Given the description of an element on the screen output the (x, y) to click on. 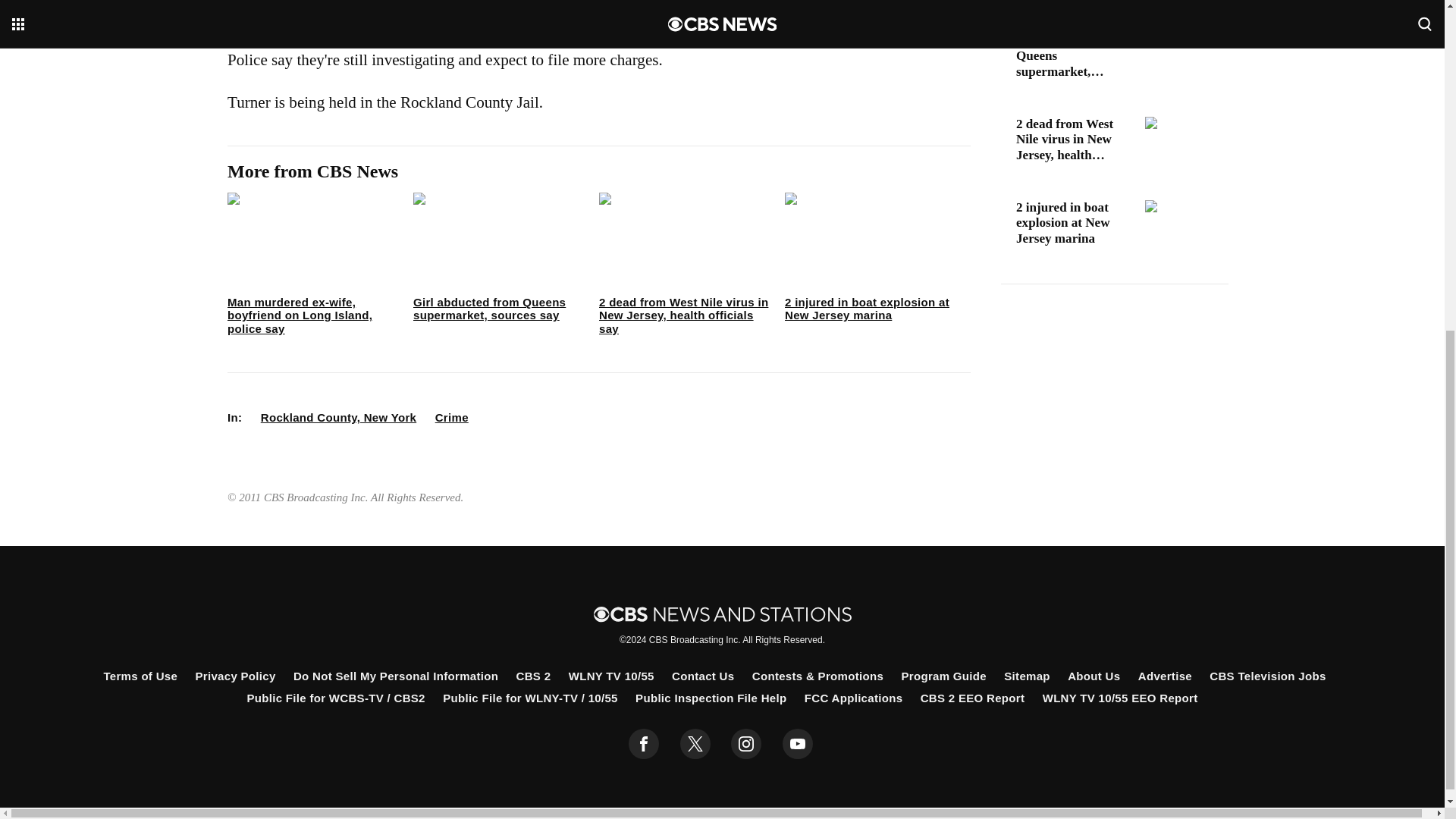
twitter (694, 743)
facebook (643, 743)
youtube (797, 743)
instagram (745, 743)
